Given the description of an element on the screen output the (x, y) to click on. 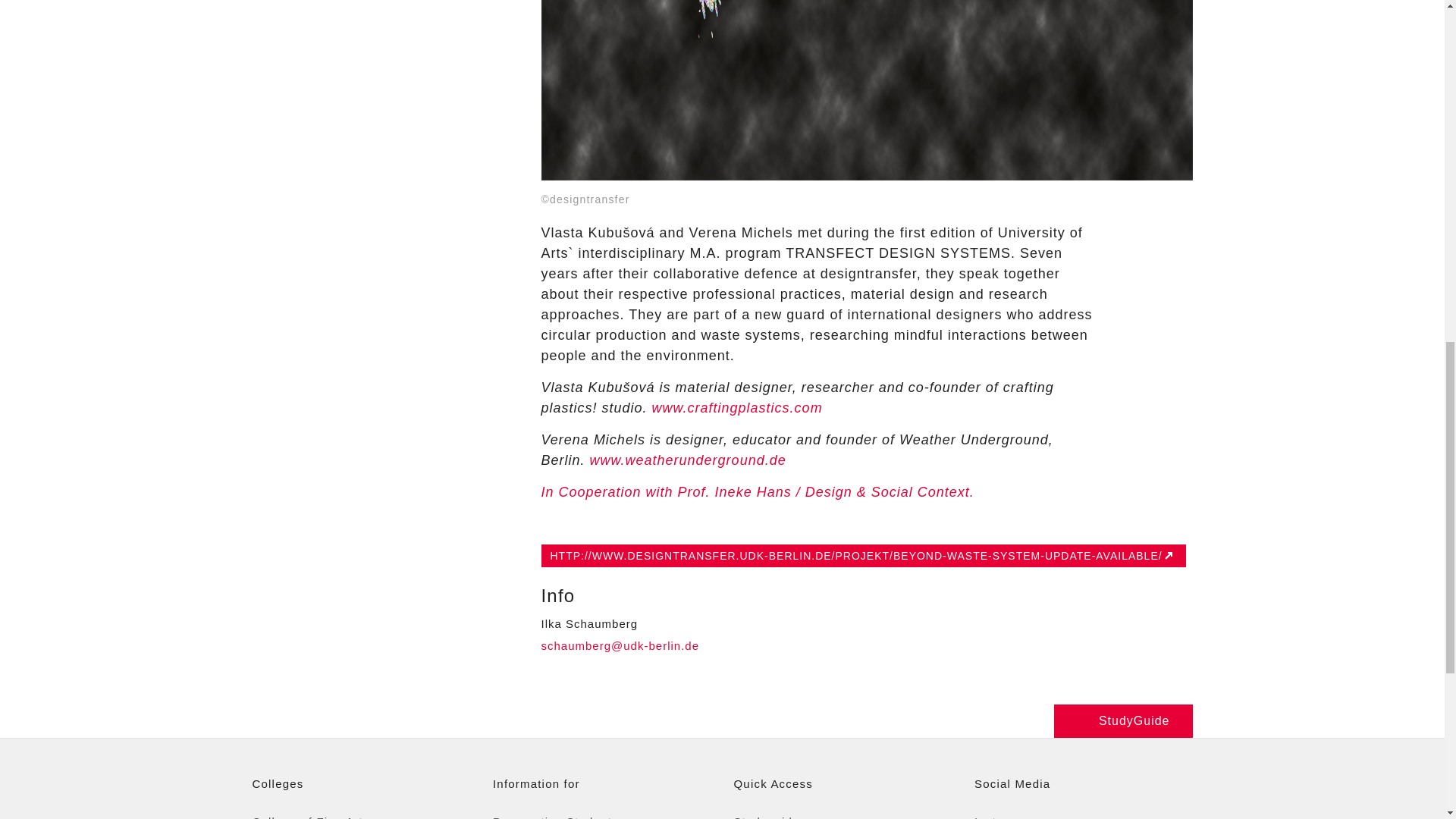
beyond waste (866, 90)
www.craftingplastics.com (737, 407)
www.weatherunderground.de (687, 459)
